Given the description of an element on the screen output the (x, y) to click on. 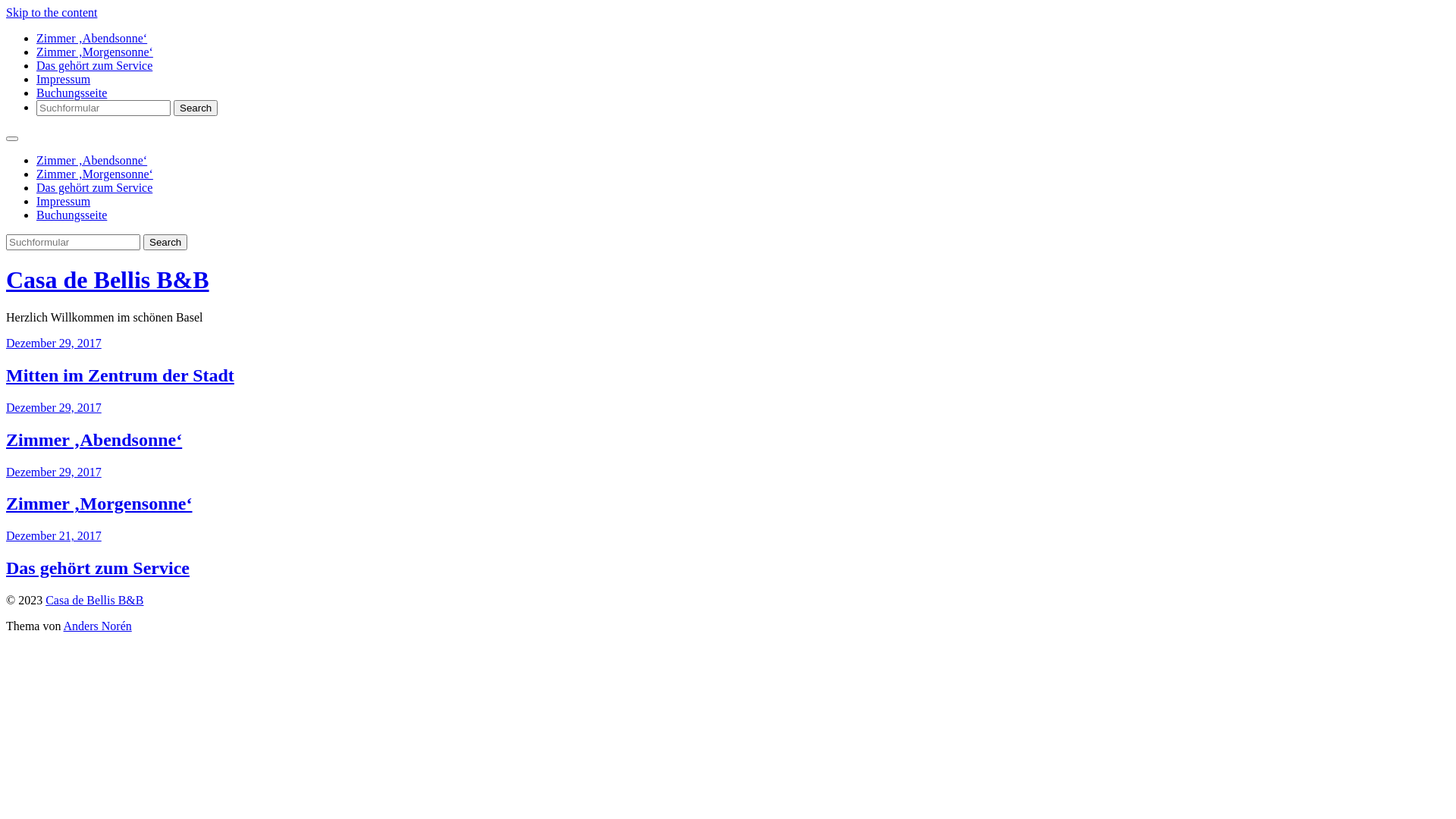
Dezember 29, 2017
Mitten im Zentrum der Stadt Element type: text (727, 360)
Skip to the content Element type: text (51, 12)
Search Element type: text (165, 242)
Impressum Element type: text (63, 200)
Buchungsseite Element type: text (71, 214)
Casa de Bellis B&B Element type: text (107, 279)
Casa de Bellis B&B Element type: text (94, 599)
Search Element type: text (195, 108)
Buchungsseite Element type: text (71, 92)
Impressum Element type: text (63, 78)
